Given the description of an element on the screen output the (x, y) to click on. 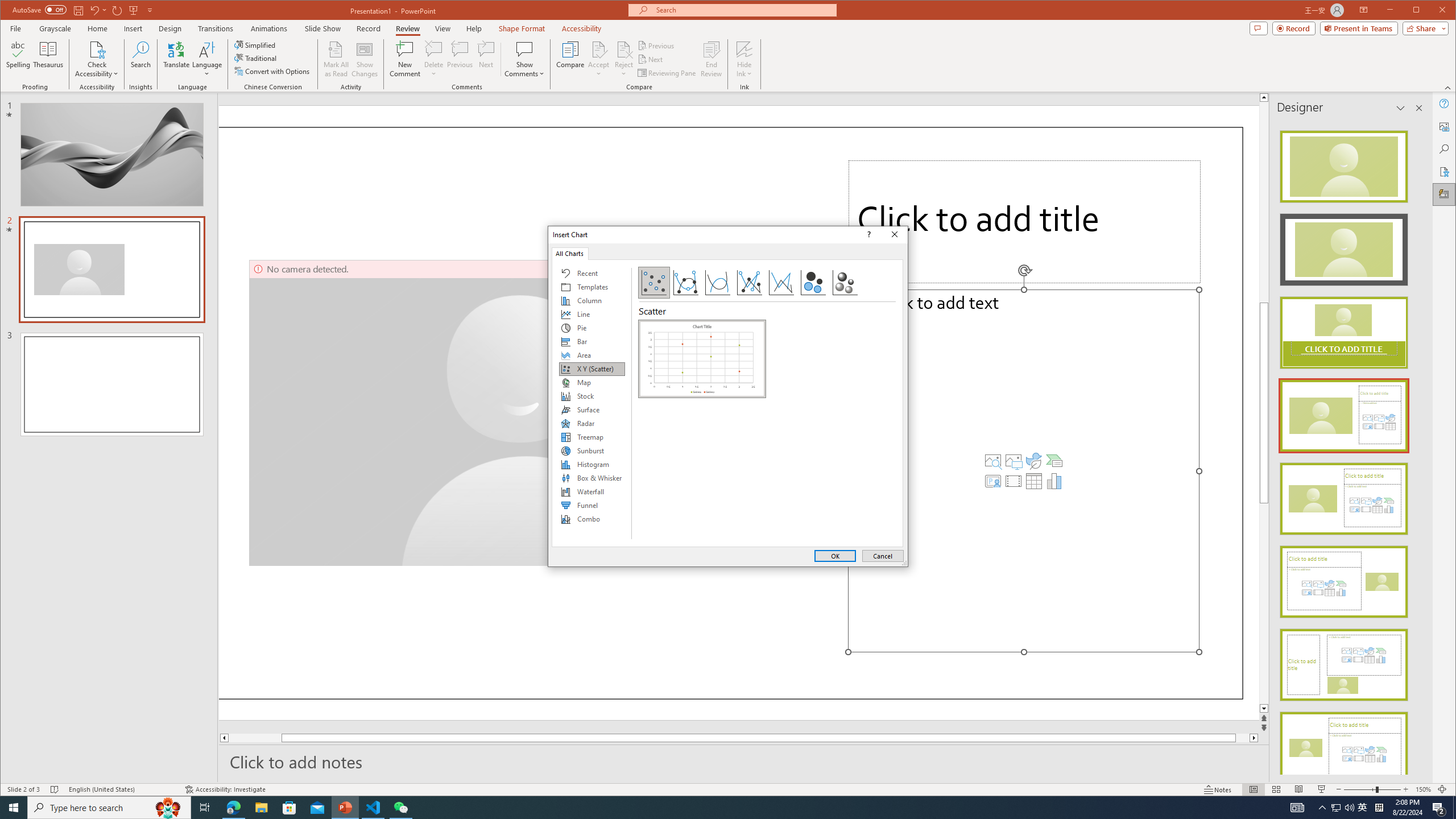
Line down (1263, 709)
Histogram (591, 464)
Class: MsoCommandBar (728, 789)
Show Comments (524, 59)
Hide Ink (744, 48)
Insert an Icon (1033, 460)
Treemap (591, 436)
Slide Notes (744, 761)
Reject Change (623, 48)
Reviewing Pane (667, 72)
